Given the description of an element on the screen output the (x, y) to click on. 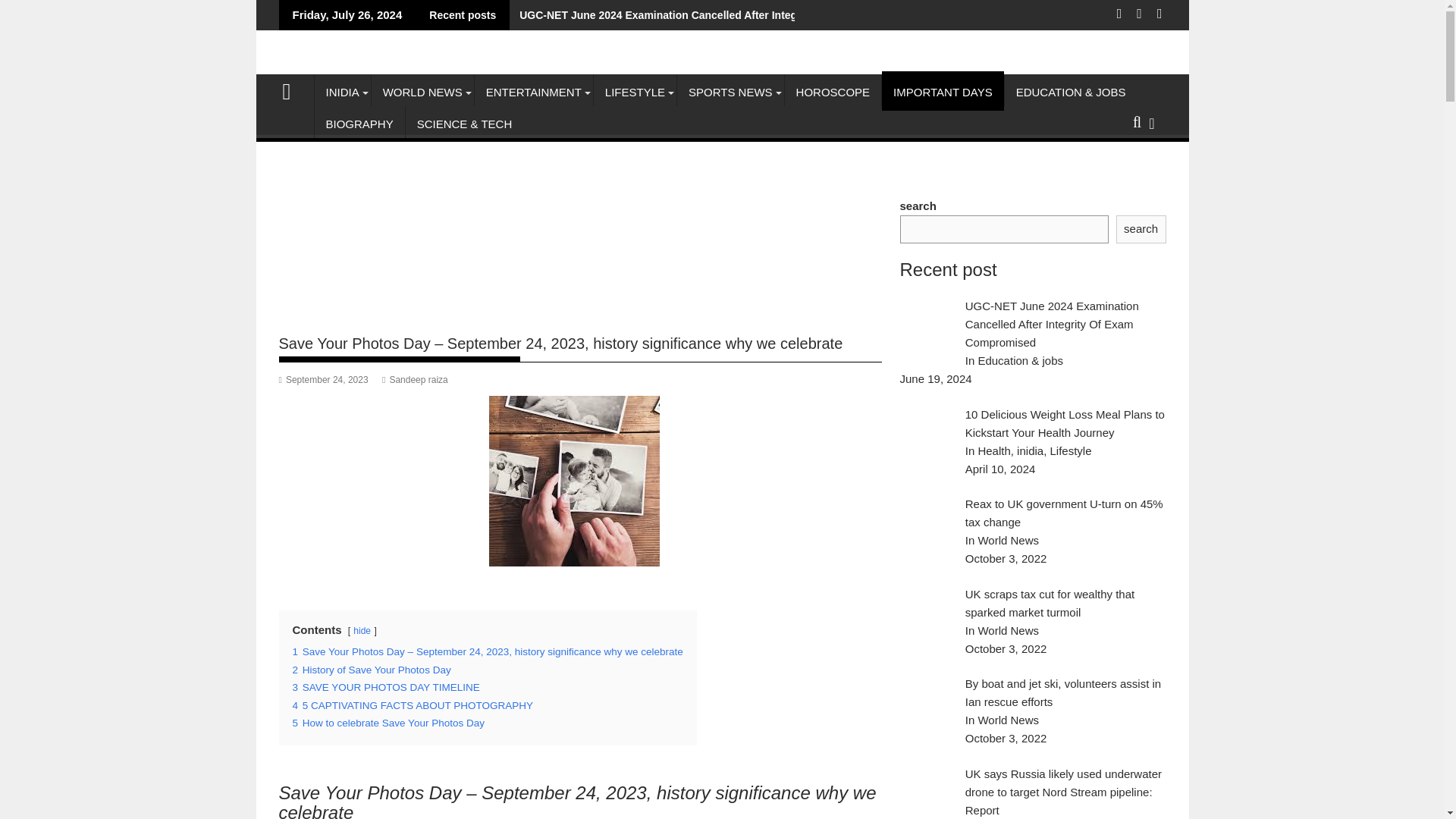
WORLD NEWS (422, 92)
IMPORTANT DAYS (943, 92)
BIOGRAPHY (359, 124)
SPORTS NEWS (730, 92)
LIFESTYLE (635, 92)
ENTERTAINMENT (533, 92)
worldtimeshindi (293, 89)
HOROSCOPE (833, 92)
INIDIA (341, 92)
